Given the description of an element on the screen output the (x, y) to click on. 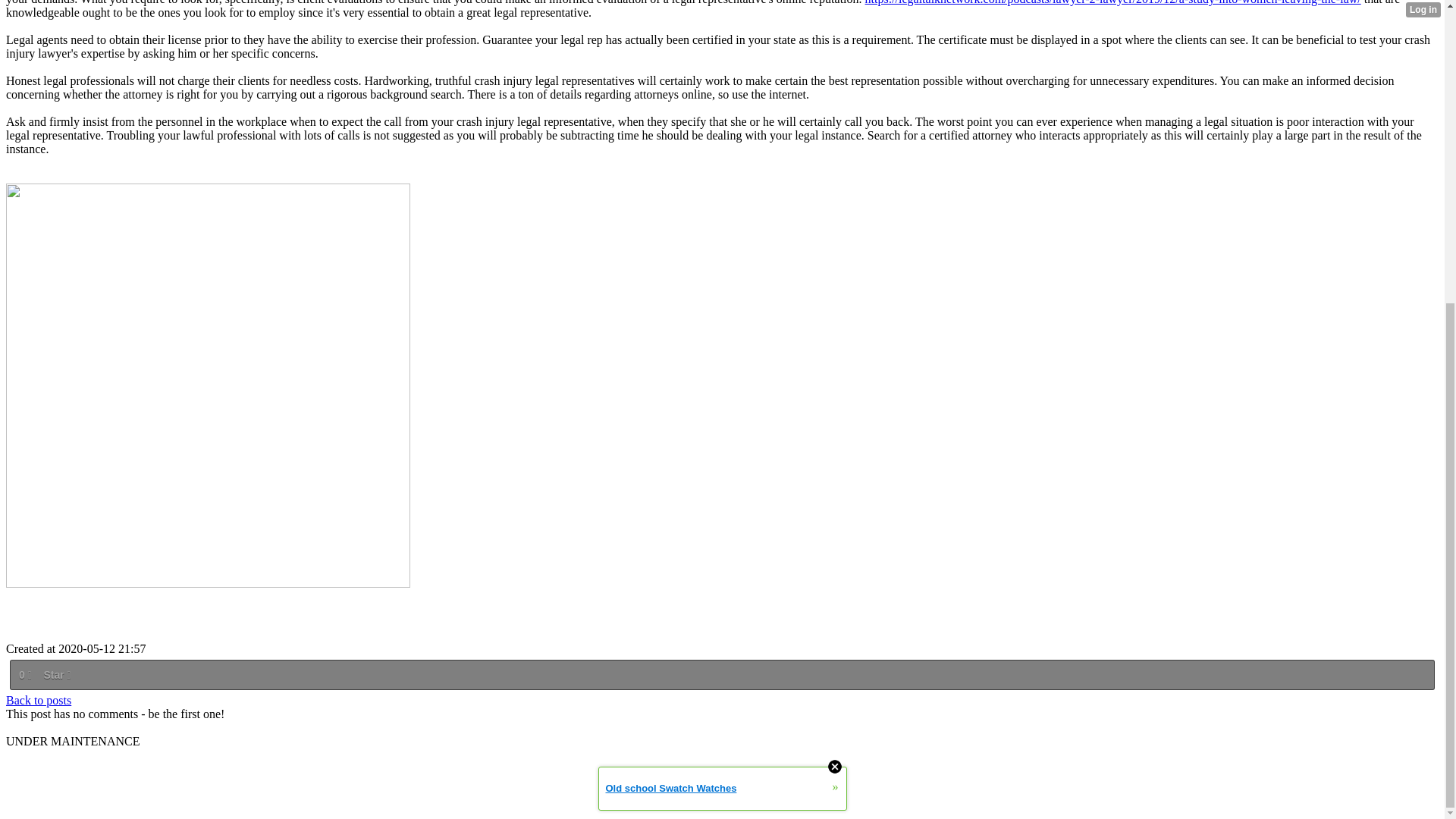
0 (24, 674)
Star (56, 674)
Back to posts (38, 699)
